Given the description of an element on the screen output the (x, y) to click on. 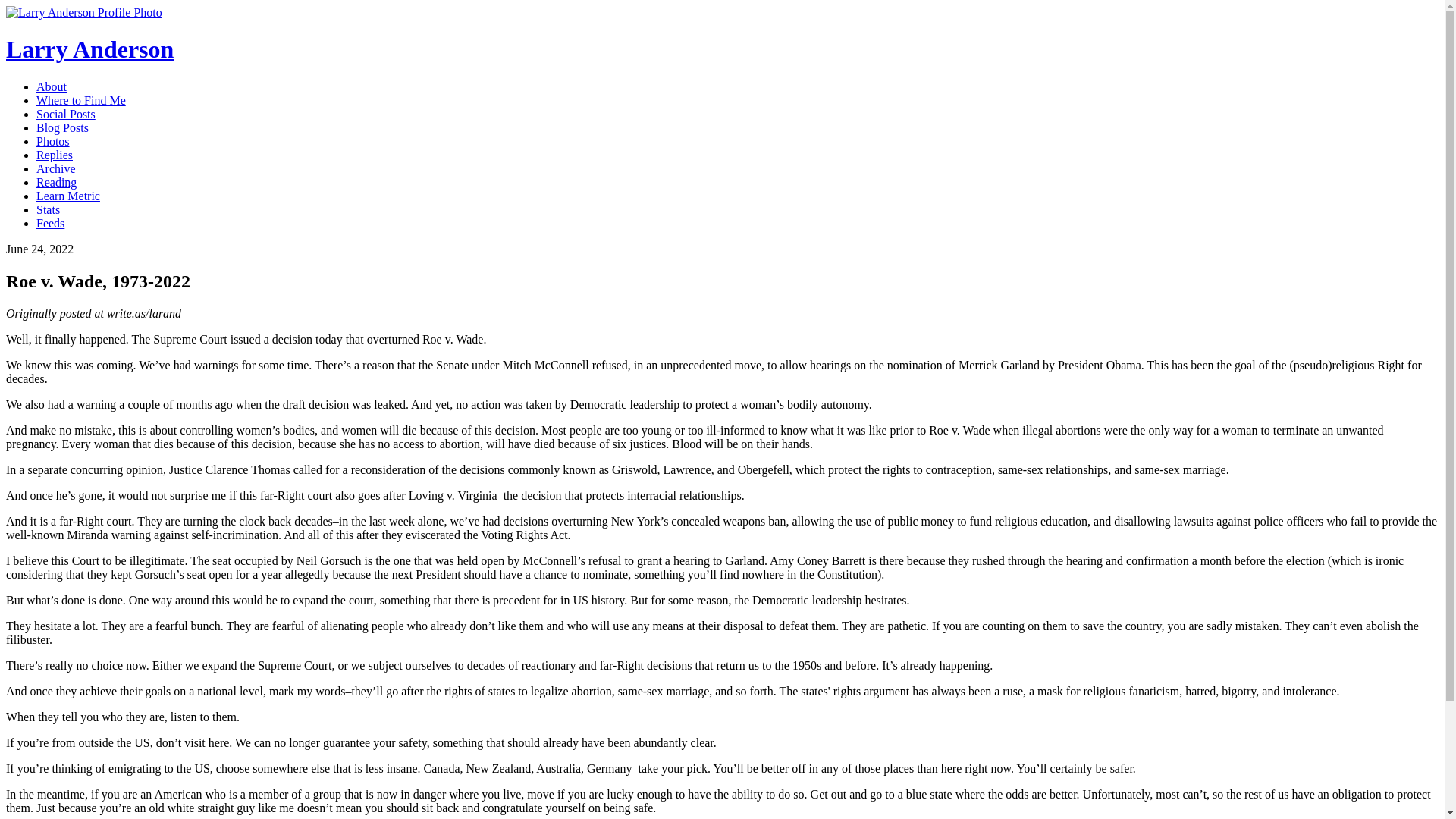
About (51, 86)
Reading (56, 182)
Feeds (50, 223)
Learn Metric (68, 195)
Stats (47, 209)
Archive (55, 168)
Where to Find Me (80, 100)
Blog Posts (62, 127)
Larry Anderson (89, 49)
Replies (54, 154)
